Given the description of an element on the screen output the (x, y) to click on. 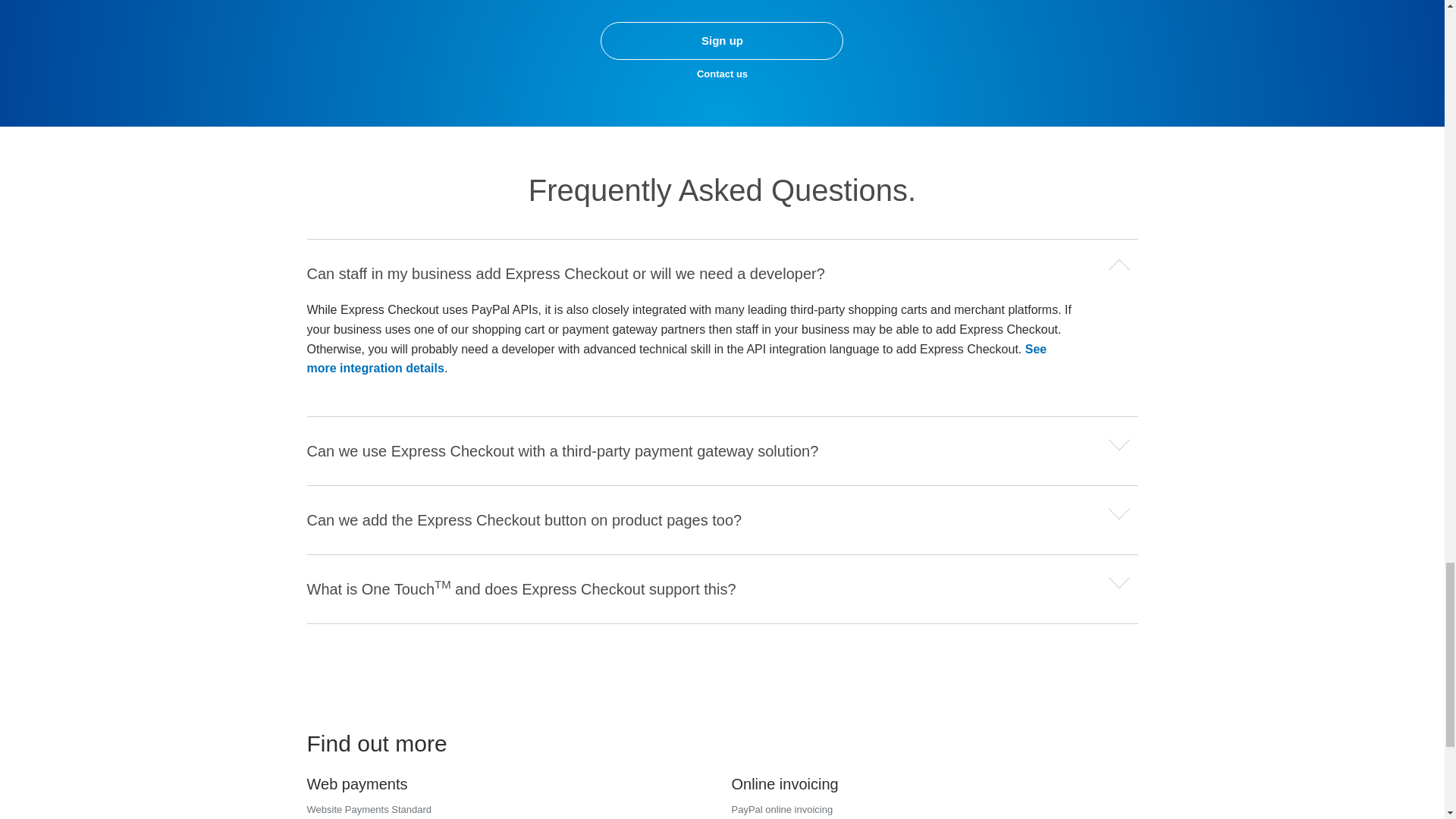
PayPal online invoicing (781, 808)
Contact us (722, 73)
Website Payments Standard (367, 808)
Sign up (721, 40)
See more integration details (675, 359)
